Given the description of an element on the screen output the (x, y) to click on. 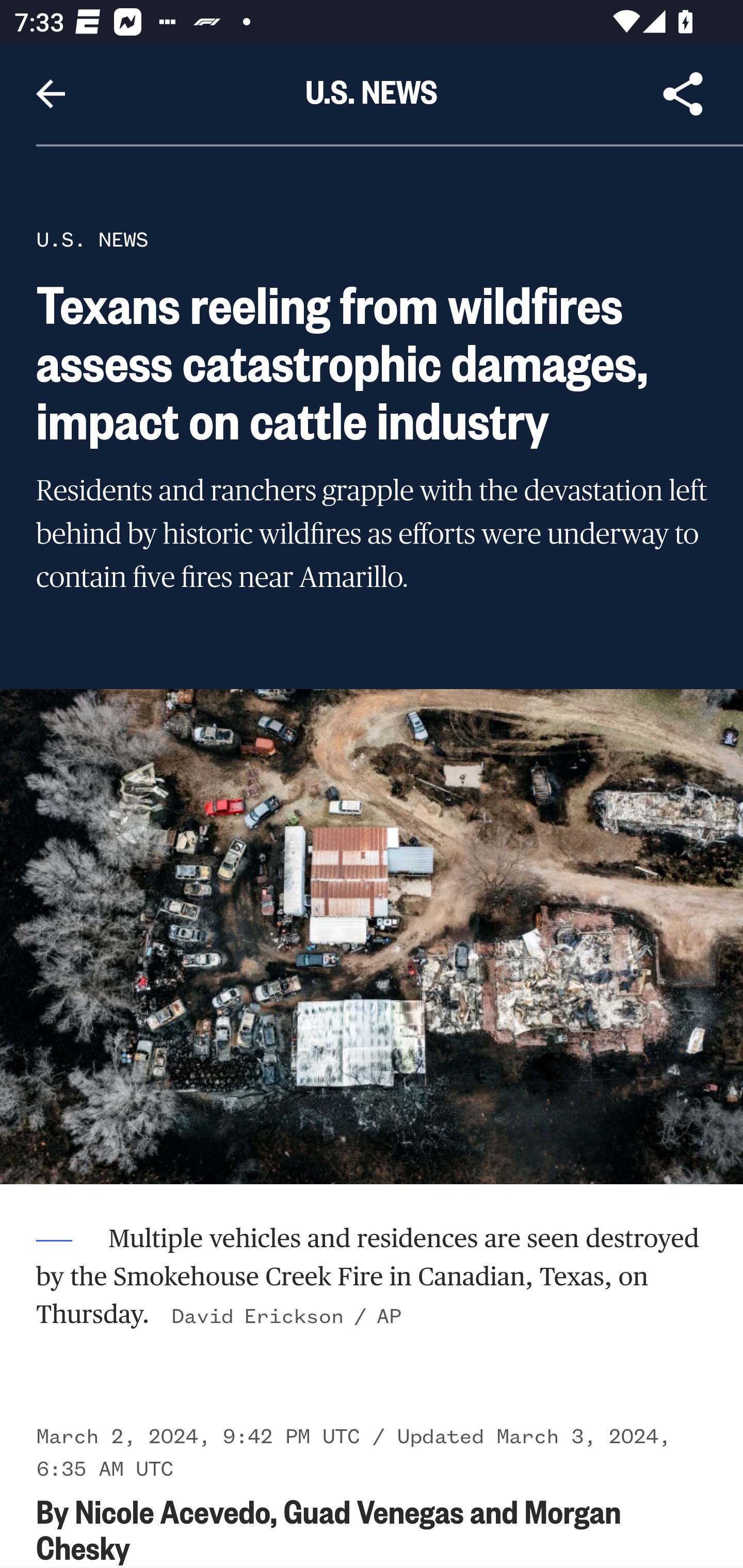
Navigate up (50, 93)
Share Article, button (683, 94)
U.S. NEWS (91, 239)
